Given the description of an element on the screen output the (x, y) to click on. 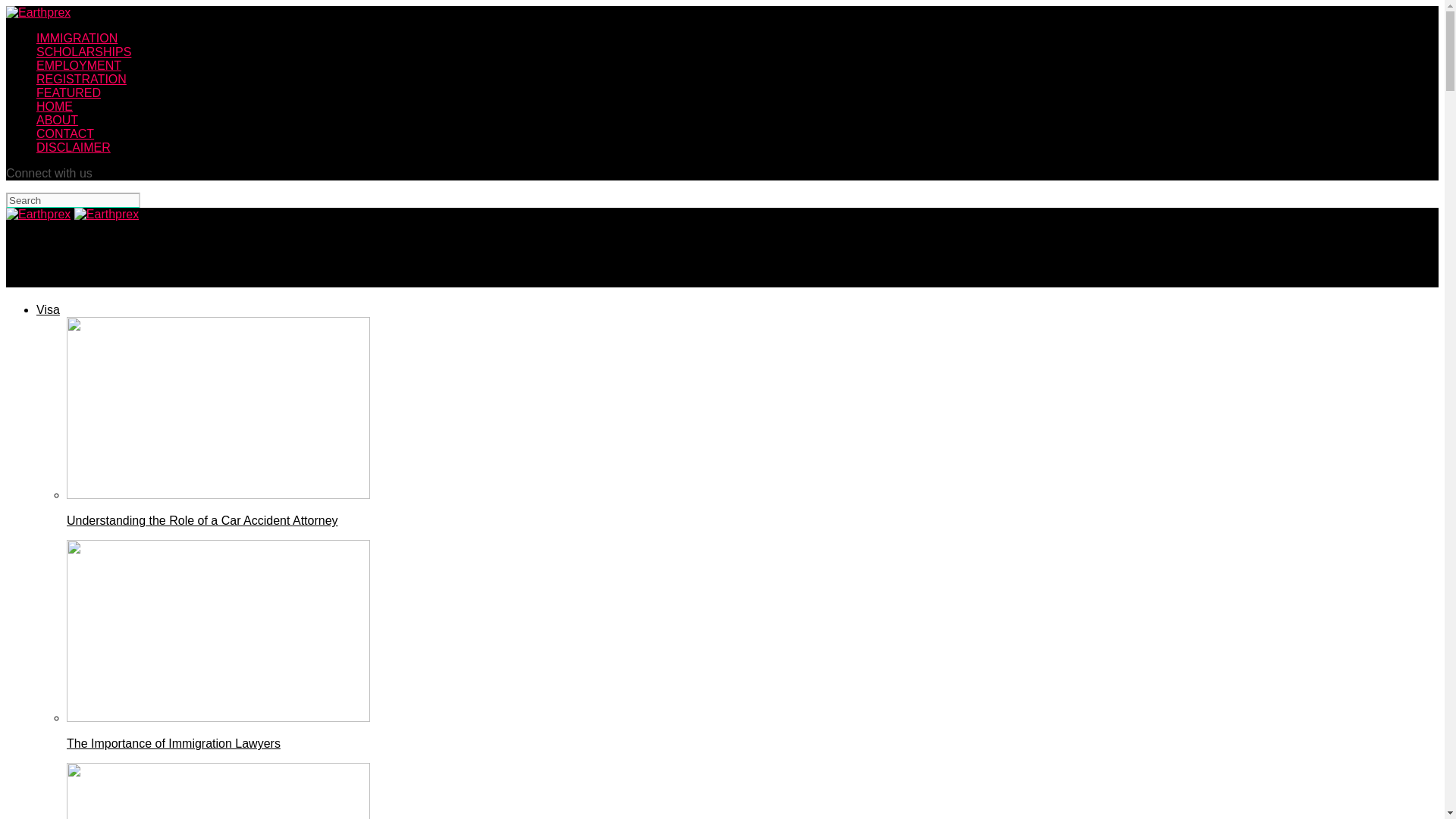
HOME (54, 106)
FEATURED (68, 92)
REGISTRATION (81, 78)
Search (72, 200)
IMMIGRATION (76, 38)
ABOUT (57, 119)
SCHOLARSHIPS (83, 51)
DISCLAIMER (73, 146)
EMPLOYMENT (78, 65)
Visa (47, 309)
